Given the description of an element on the screen output the (x, y) to click on. 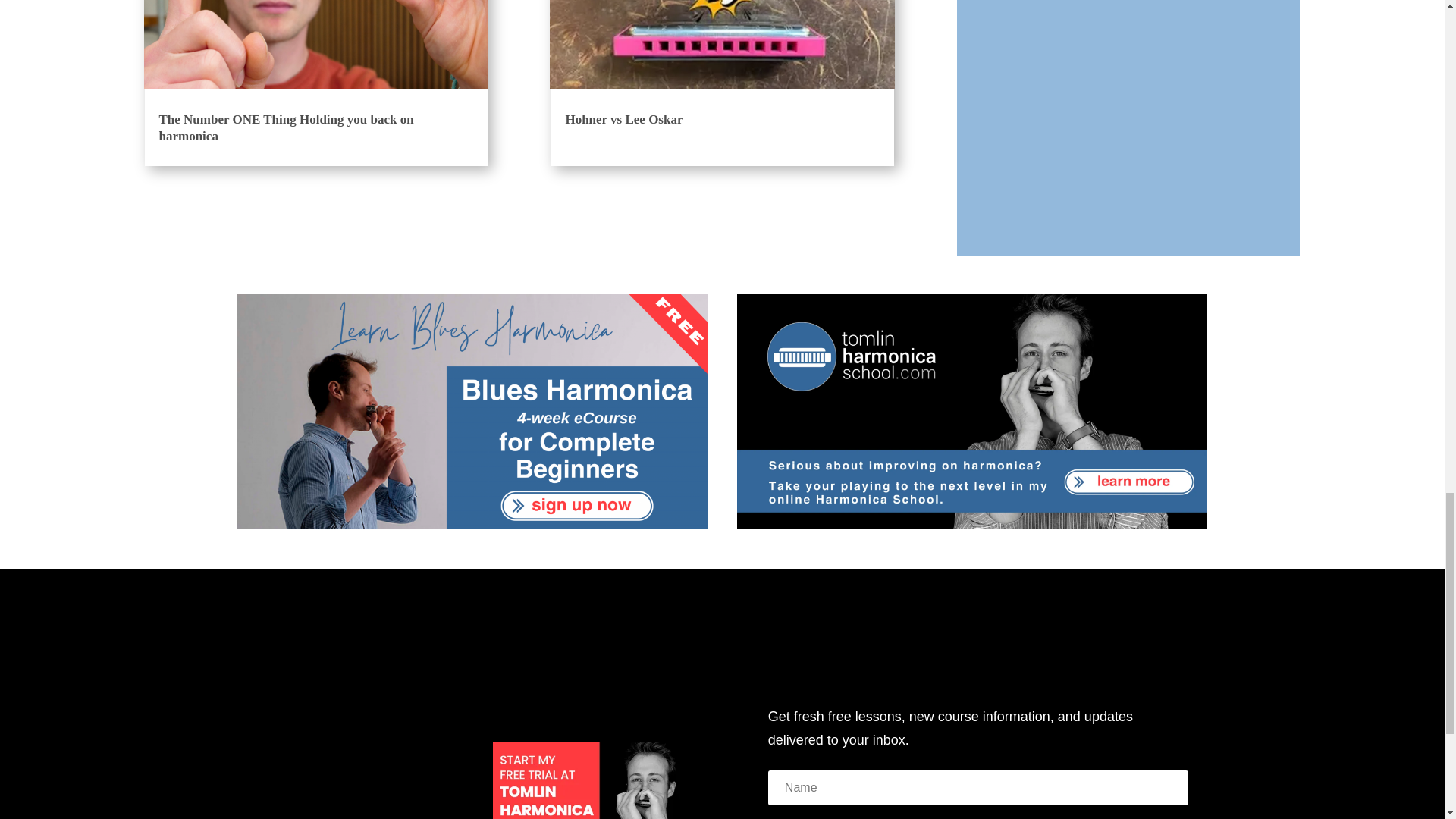
Tomlin Harmonica School 2400p (972, 411)
Learn Blues Harmonica 2400p (471, 411)
